Given the description of an element on the screen output the (x, y) to click on. 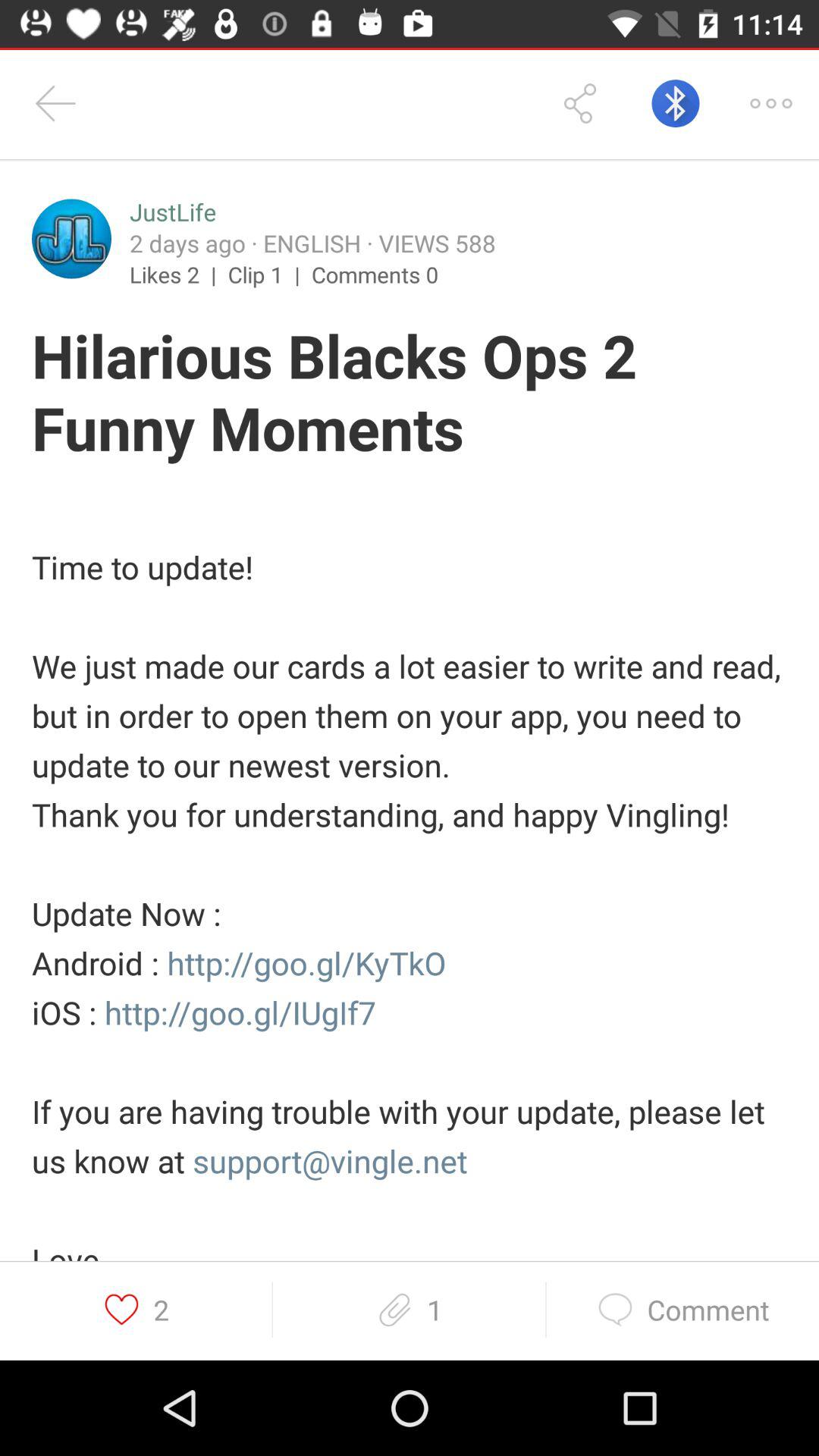
open item to the left of comments 0 (269, 274)
